Given the description of an element on the screen output the (x, y) to click on. 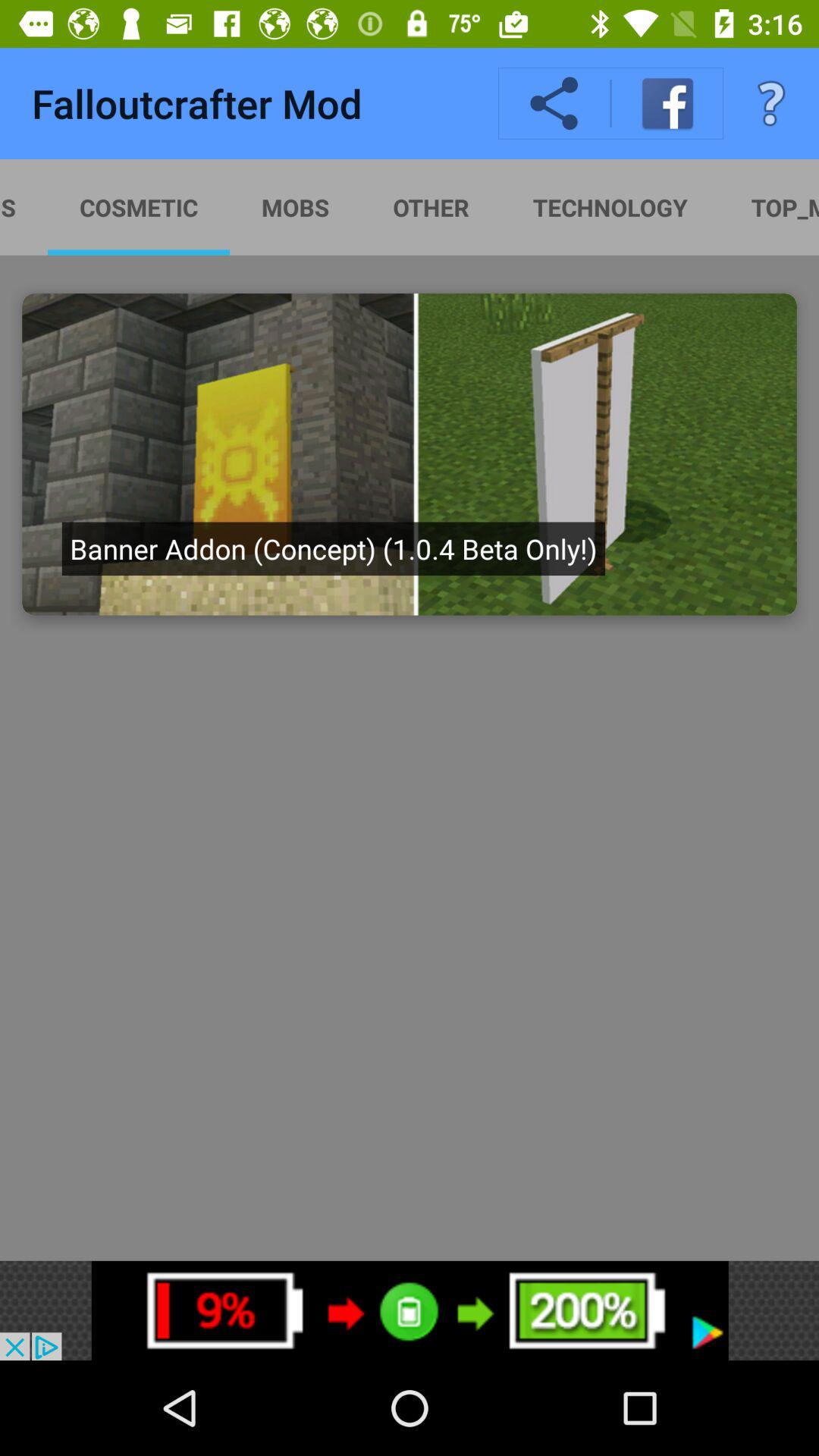
advertisement (409, 1310)
